Given the description of an element on the screen output the (x, y) to click on. 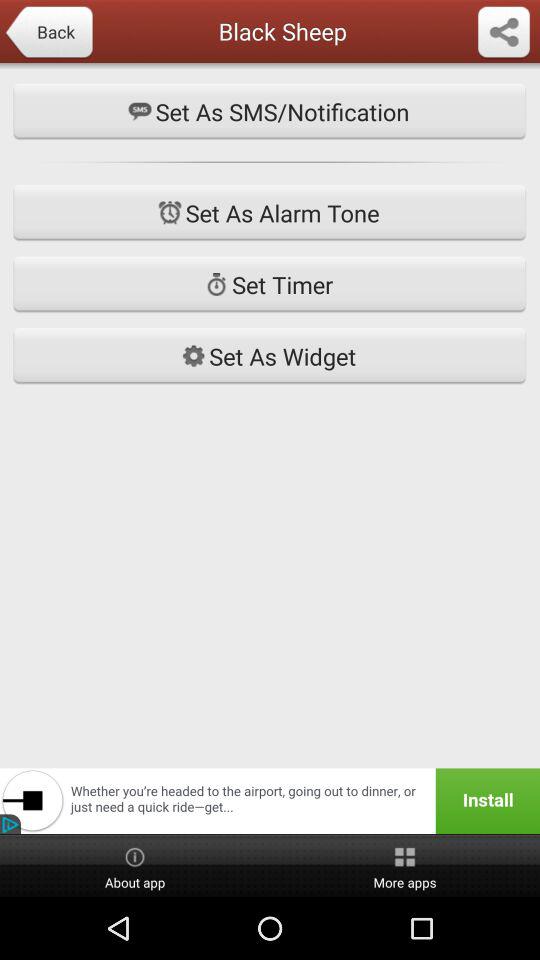
open the button to the left of more apps item (135, 866)
